Given the description of an element on the screen output the (x, y) to click on. 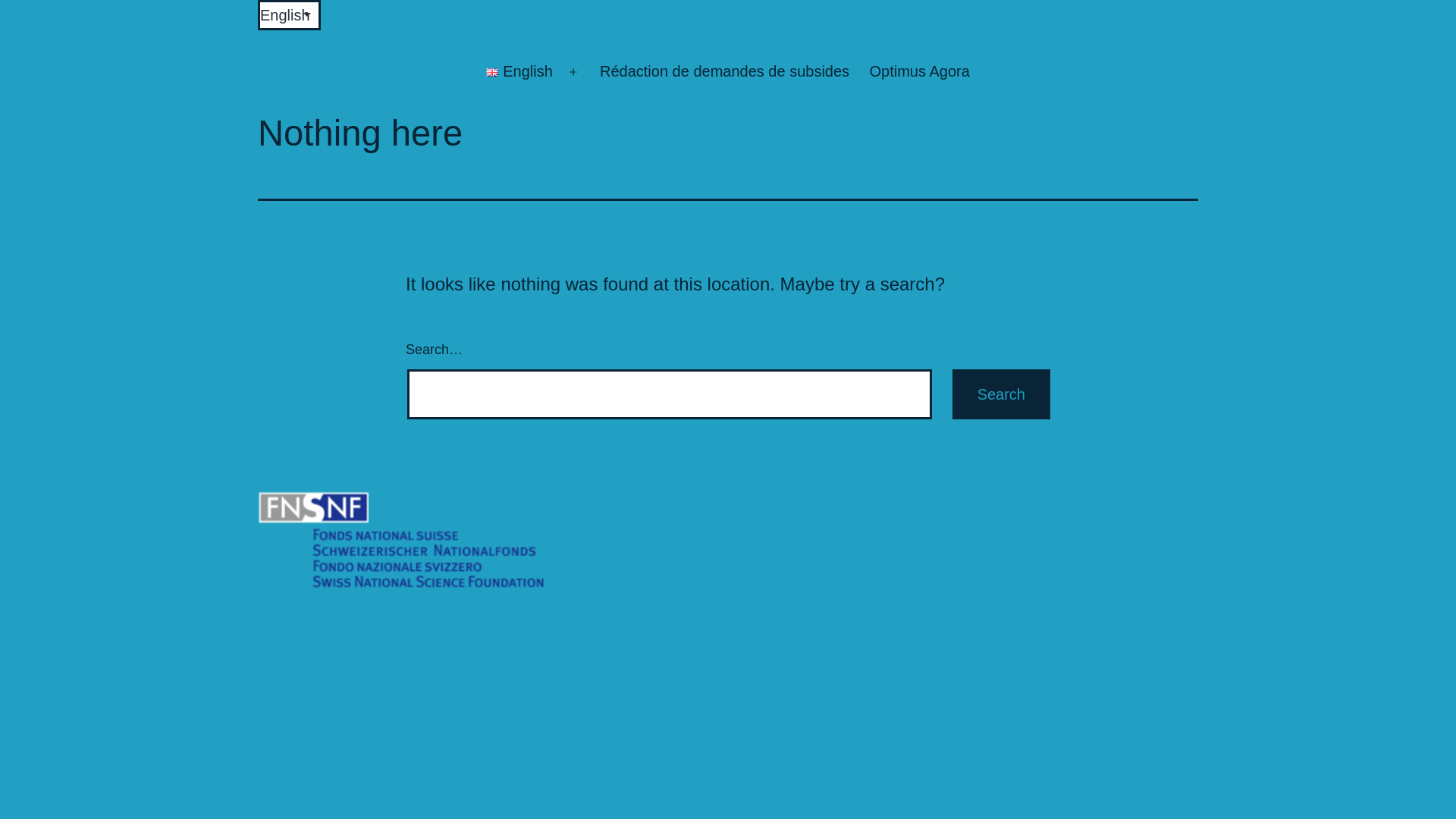
Optimus Agora Element type: text (919, 72)
English Element type: text (519, 72)
Open menu Element type: text (572, 72)
Search Element type: text (1001, 394)
